Given the description of an element on the screen output the (x, y) to click on. 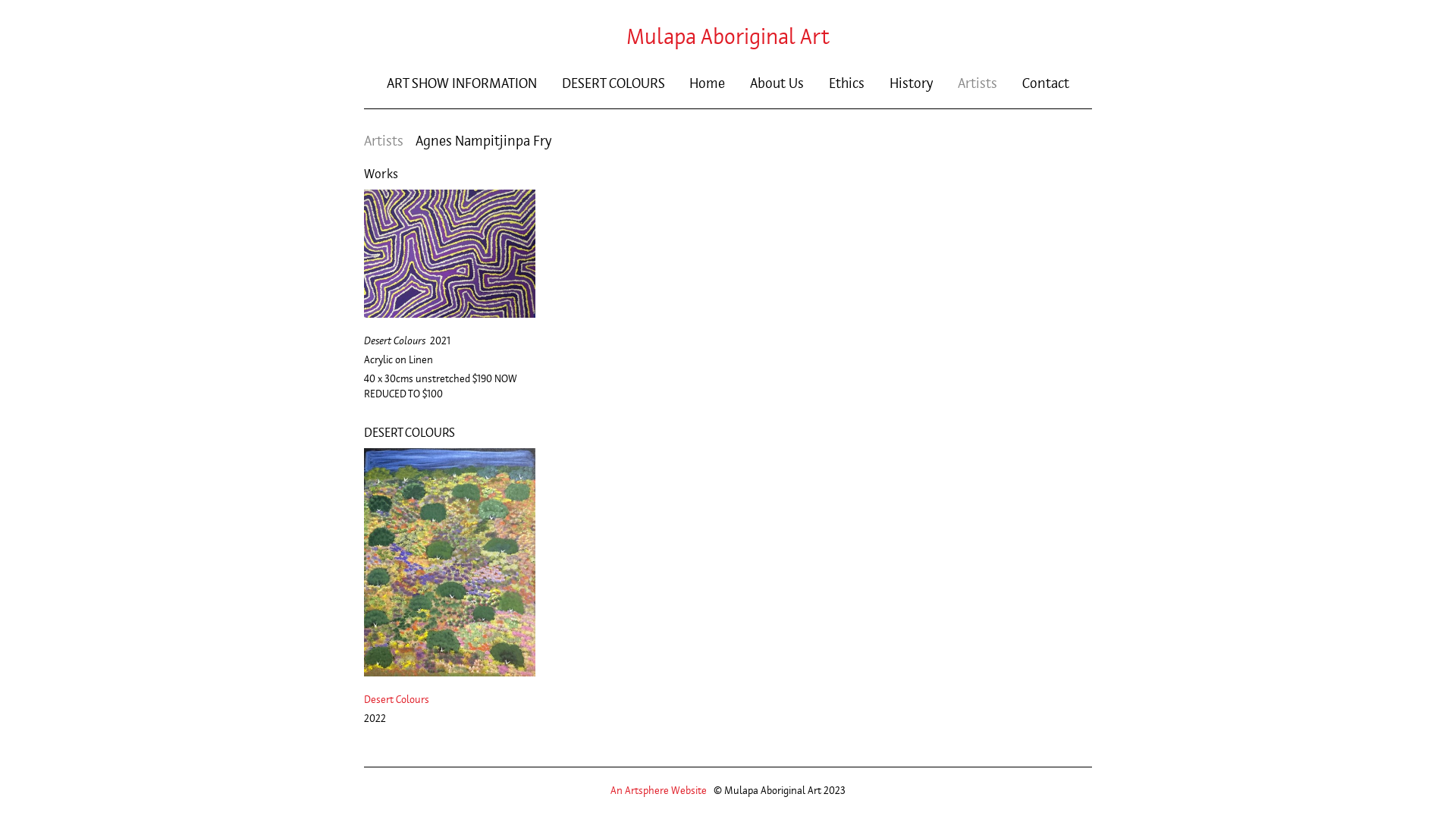
DESERT COLOURS Element type: text (613, 82)
Artists Element type: text (383, 140)
ART SHOW INFORMATION Element type: text (461, 82)
Home Element type: text (706, 82)
Desert Colours 2021 by Agnes Nampitjinpa Fry Element type: hover (449, 253)
Artists Element type: text (977, 82)
Desert Colours Element type: hover (449, 562)
About Us Element type: text (776, 82)
History Element type: text (911, 82)
Desert Colours Element type: text (396, 698)
Desert Colours Element type: hover (449, 313)
Contact Element type: text (1045, 82)
Ethics Element type: text (846, 82)
An Artsphere Website Element type: text (658, 789)
